Given the description of an element on the screen output the (x, y) to click on. 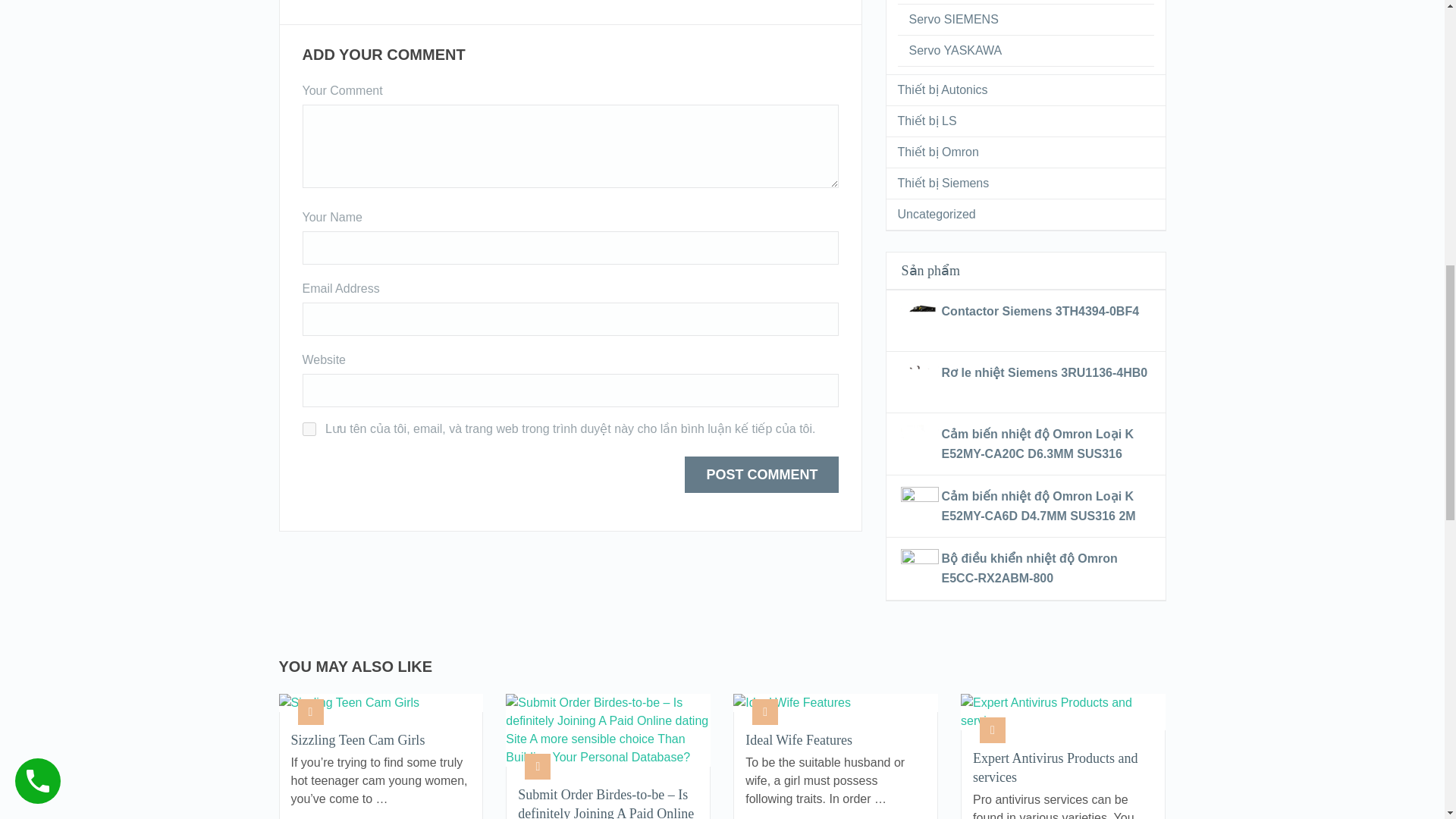
Post Comment (761, 474)
yes (308, 428)
Expert Antivirus Products and services (1062, 768)
Sizzling Teen Cam Girls (381, 740)
Ideal Wife Features (835, 740)
